Given the description of an element on the screen output the (x, y) to click on. 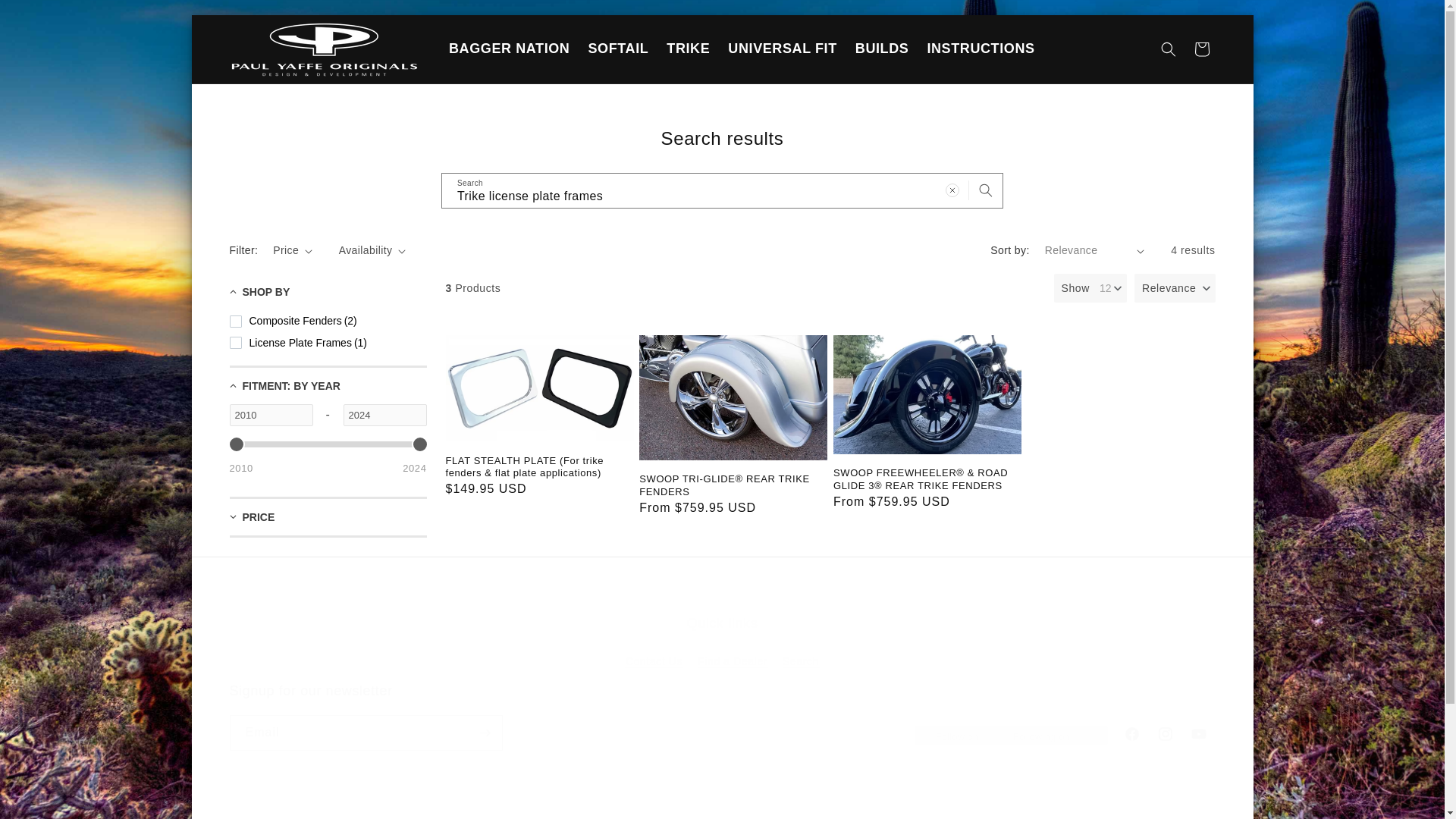
SOFTAIL (618, 48)
License Plate Frames (297, 342)
TRIKE (688, 48)
UNIVERSAL FIT (782, 48)
INSTRUCTIONS (980, 48)
Trike license plate frames (722, 190)
BUILDS (327, 444)
2010 (881, 48)
Skip to content (270, 414)
BAGGER NATION (236, 31)
Composite Fenders (508, 48)
Trike license plate frames (721, 644)
2024 (292, 321)
